Given the description of an element on the screen output the (x, y) to click on. 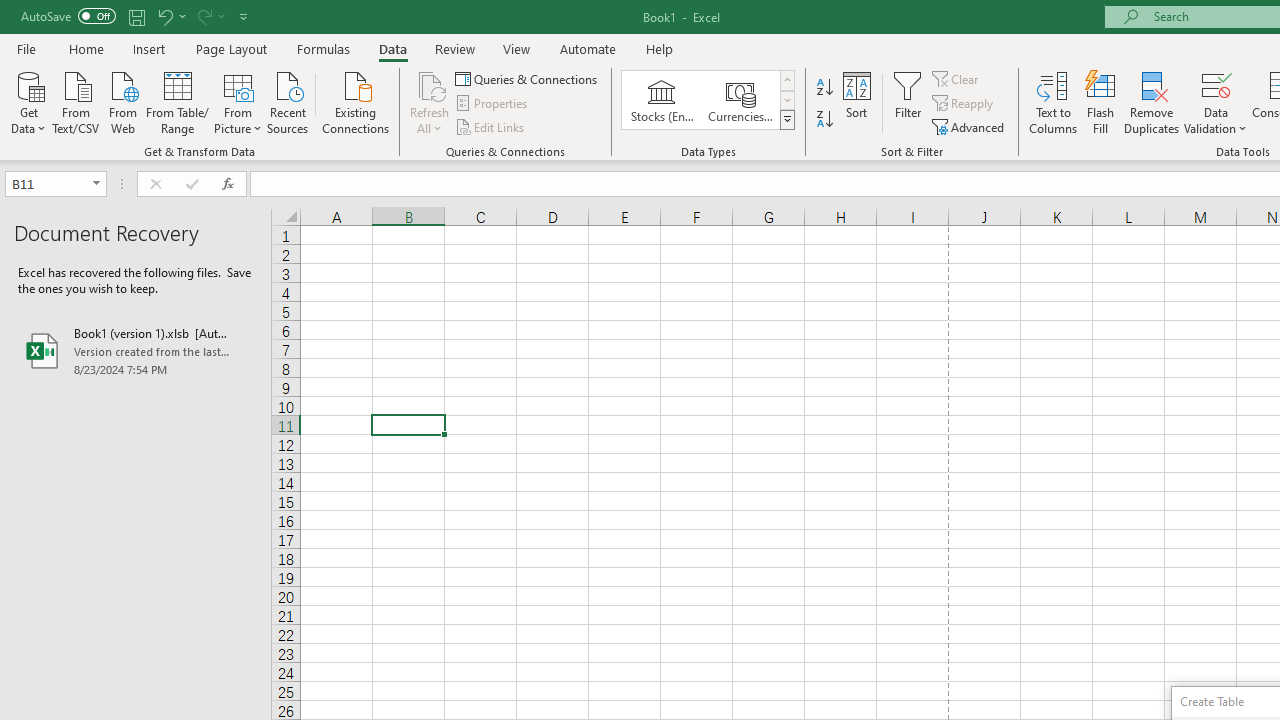
Sort Z to A (824, 119)
Stocks (English) (662, 100)
Queries & Connections (527, 78)
From Picture (238, 101)
Remove Duplicates (1151, 102)
Properties (492, 103)
From Table/Range (177, 101)
Get Data (28, 101)
